Given the description of an element on the screen output the (x, y) to click on. 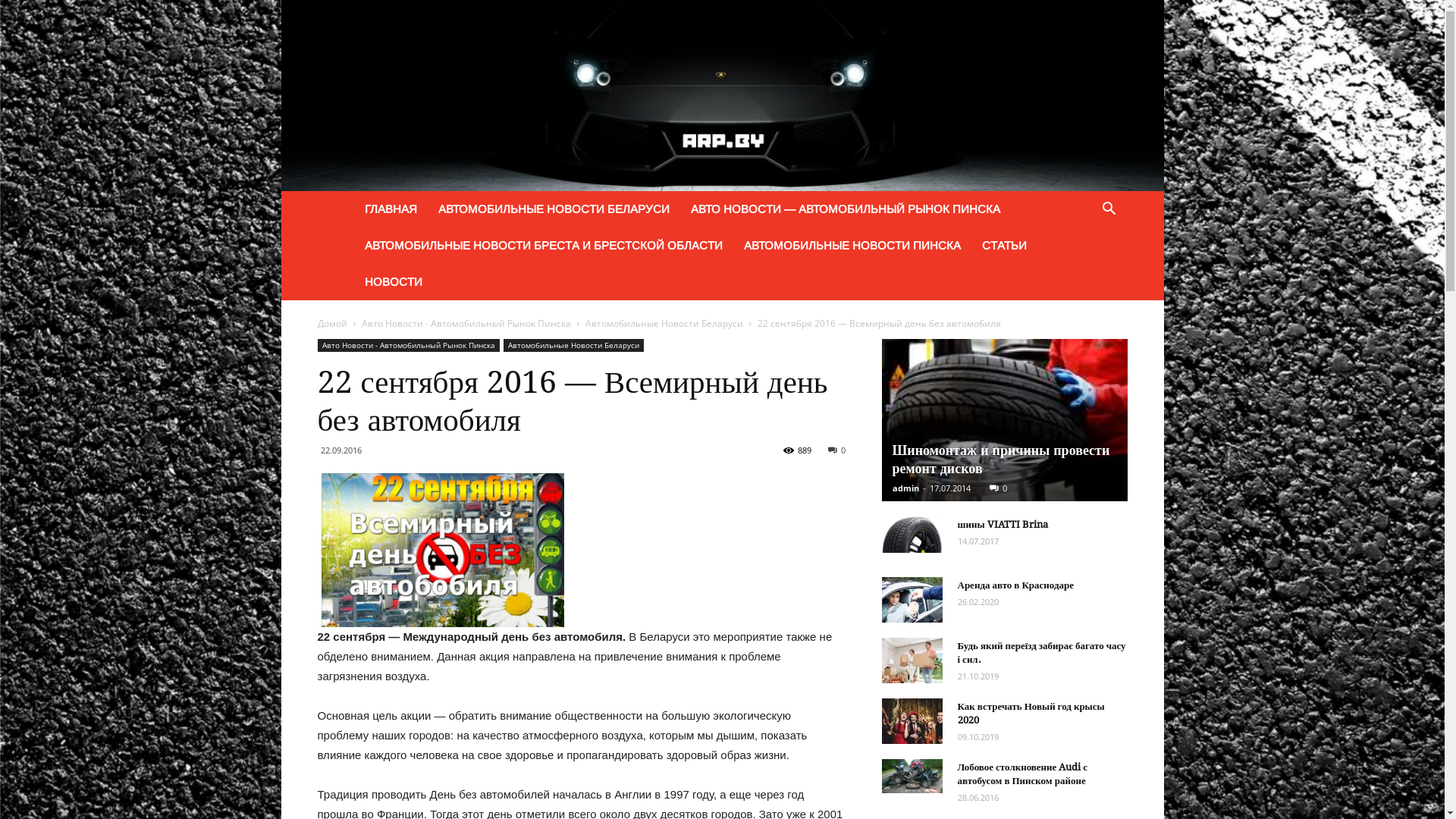
0 Element type: text (997, 487)
0 Element type: text (836, 449)
admin Element type: text (904, 487)
